Given the description of an element on the screen output the (x, y) to click on. 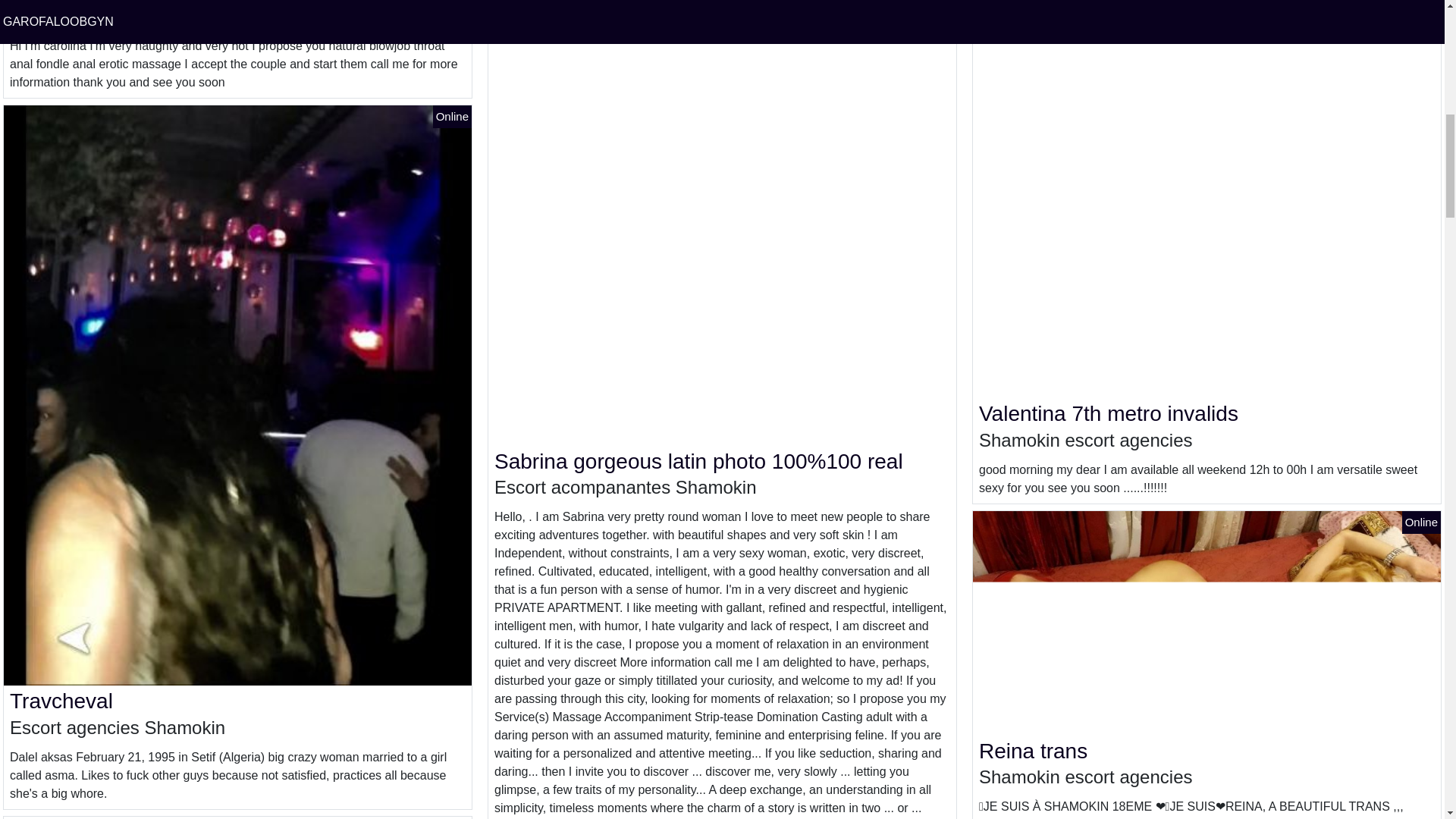
Valentina 7th metro invalids (1108, 413)
Travcheval (61, 700)
